Given the description of an element on the screen output the (x, y) to click on. 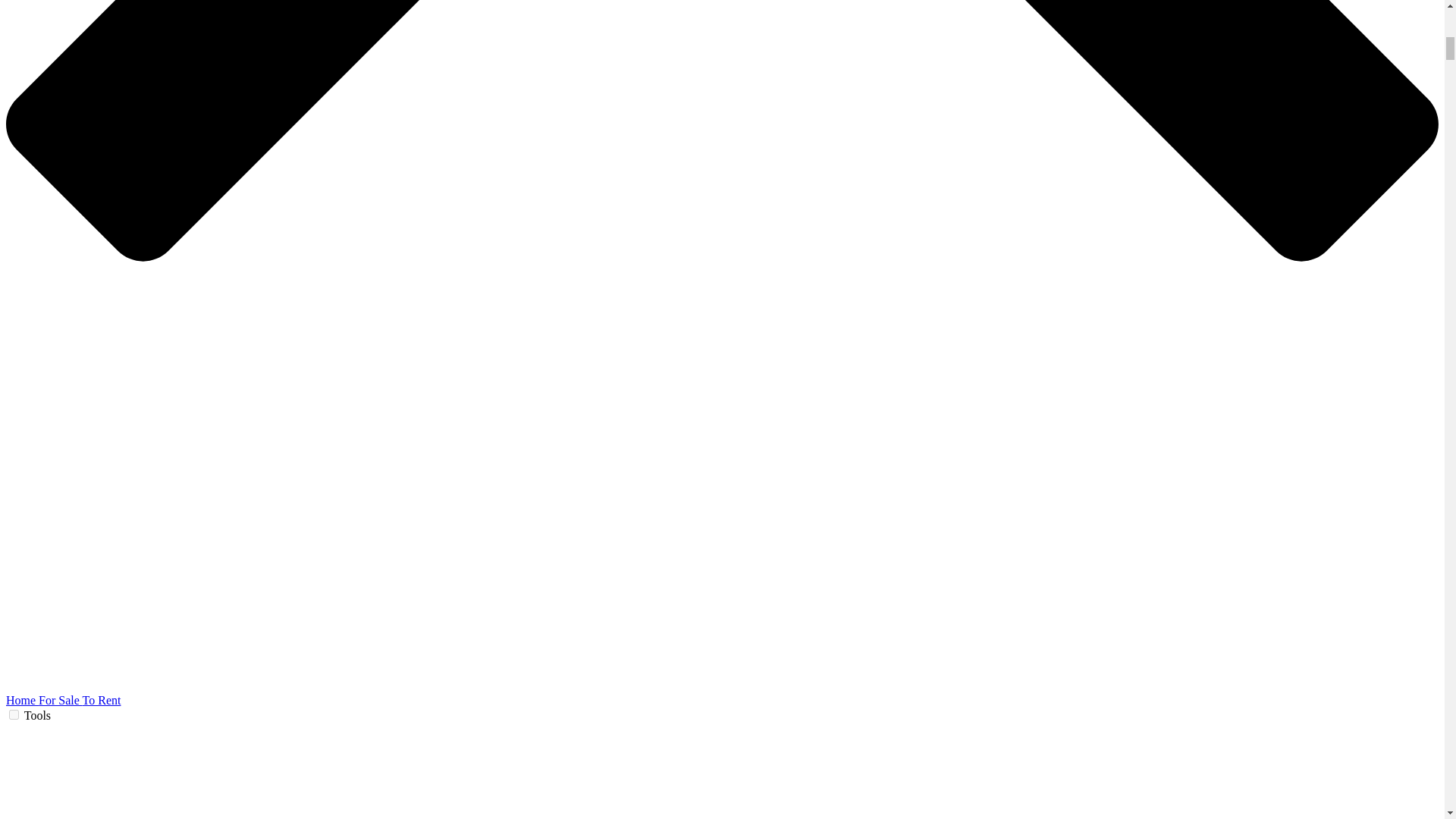
Home (22, 699)
For Sale (60, 699)
To Rent (101, 699)
on (13, 714)
